Given the description of an element on the screen output the (x, y) to click on. 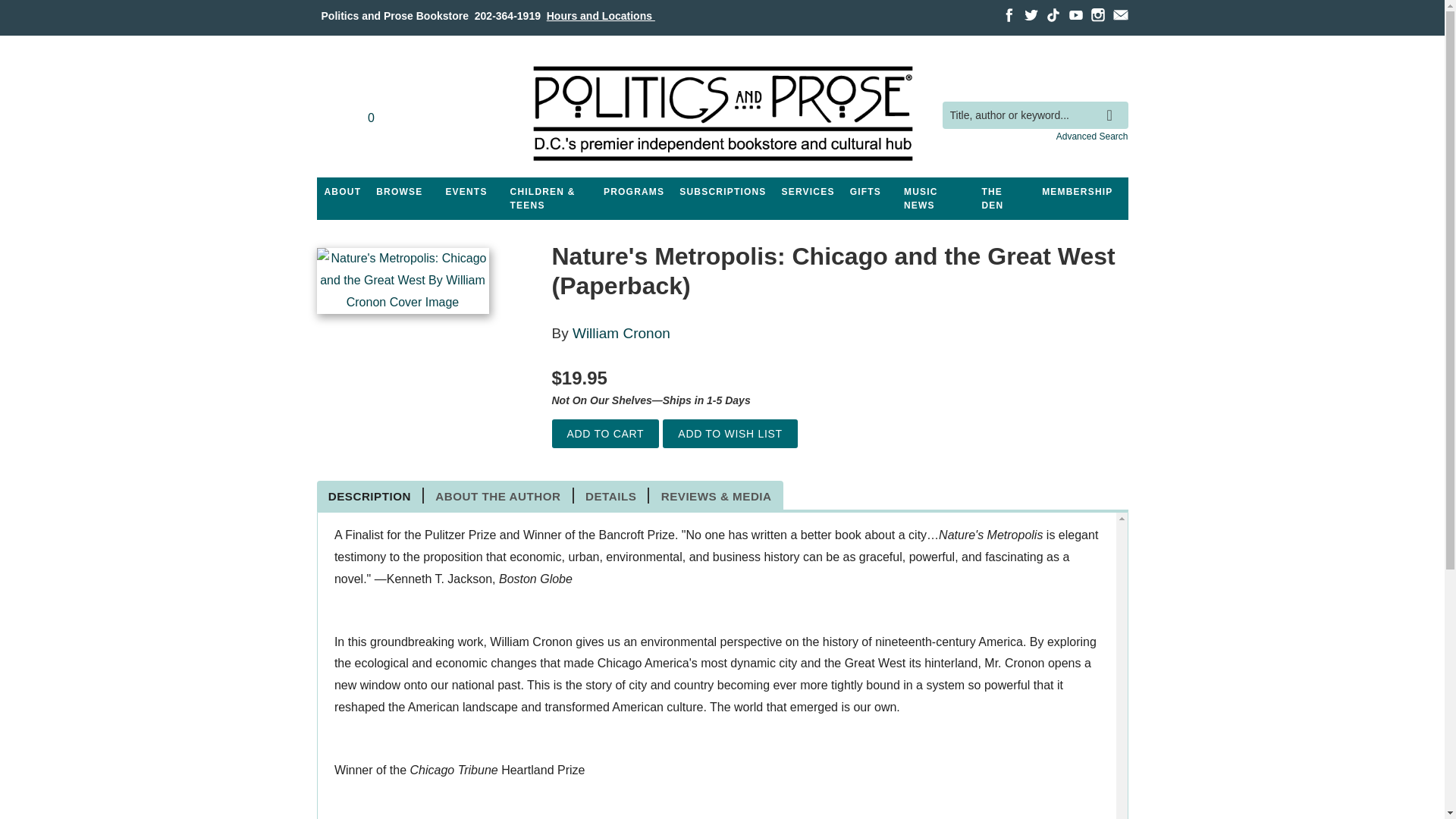
Browse our shelves (398, 191)
PROGRAMS (633, 191)
Children and Teens Department (548, 198)
Home (721, 114)
Title, author or keyword... (1034, 115)
search (1112, 103)
Hours and Locations  (601, 15)
search (1112, 103)
See our event calendar (465, 191)
